Given the description of an element on the screen output the (x, y) to click on. 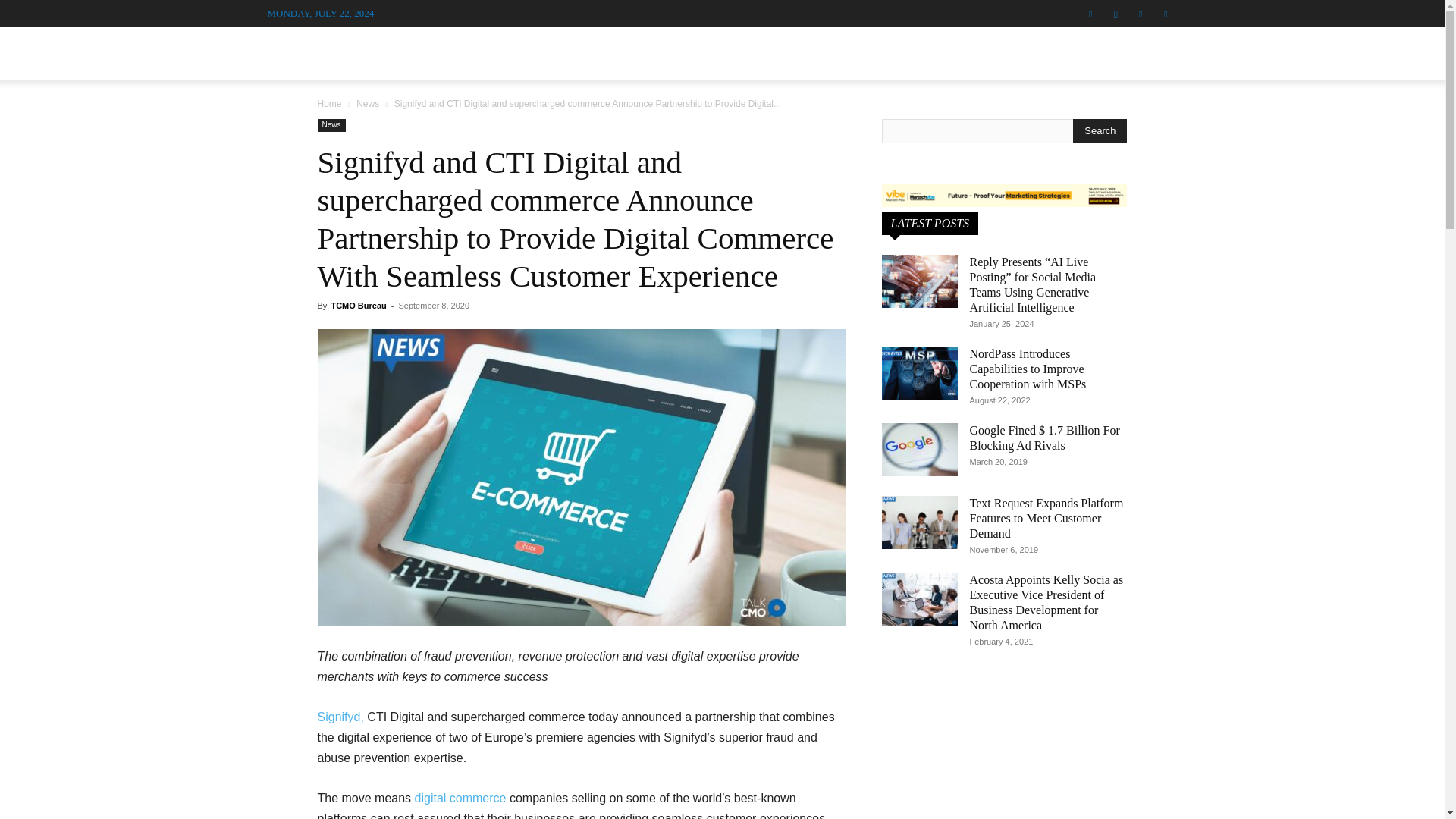
View all posts in News (367, 103)
Search (1134, 129)
INTERVIEWS (604, 53)
INSIGHTS (981, 53)
QUICK BYTES (889, 53)
Search (1099, 130)
ARTICLES (793, 53)
PODCASTS (710, 53)
